Given the description of an element on the screen output the (x, y) to click on. 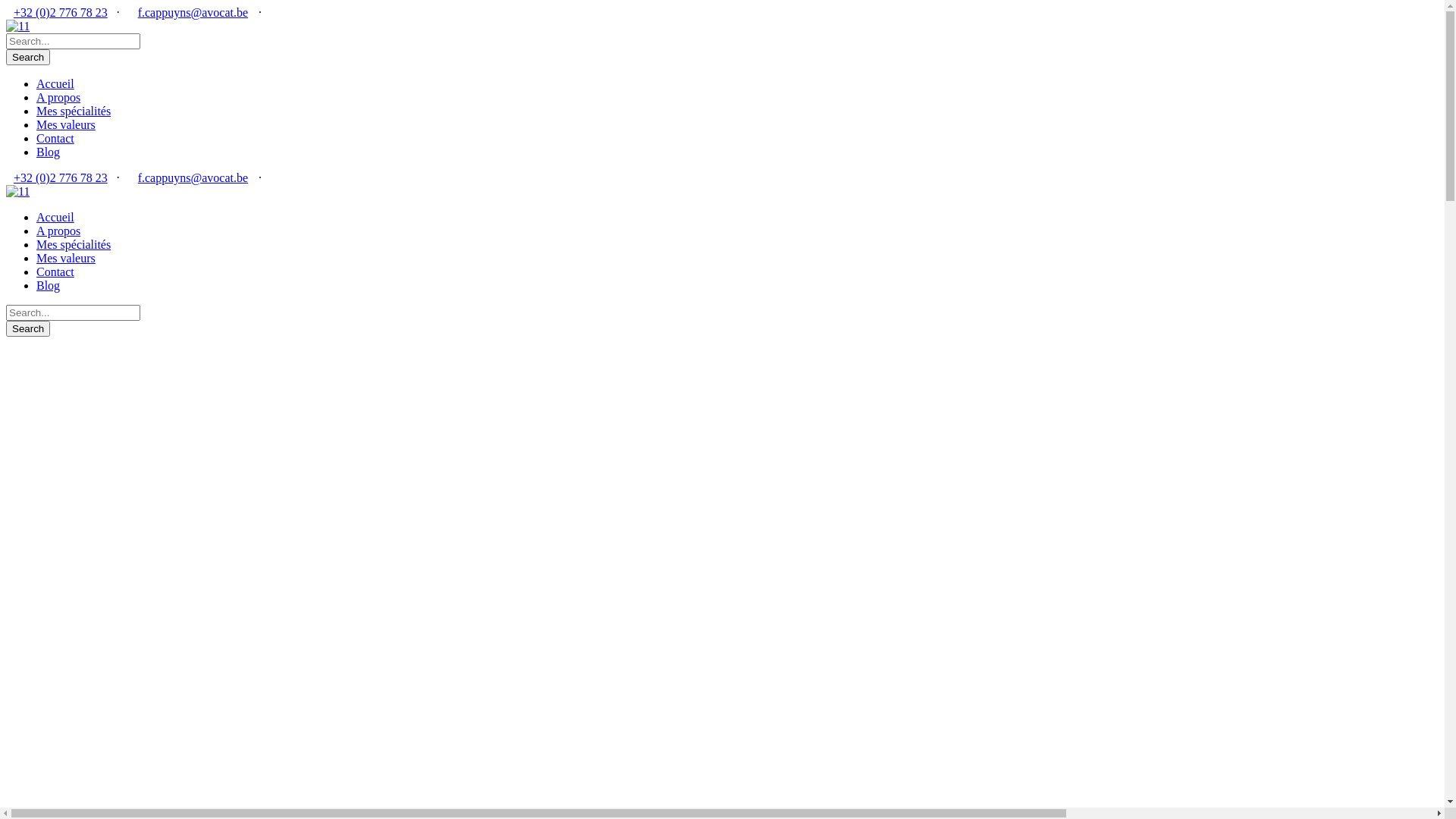
home_logo Element type: hover (17, 26)
f.cappuyns@avocat.be Element type: text (192, 177)
Accueil Element type: text (55, 83)
Contact Element type: text (55, 271)
+32 (0)2 776 78 23 Element type: text (60, 177)
Mes valeurs Element type: text (65, 124)
Blog Element type: text (47, 151)
A propos Element type: text (58, 97)
Search Element type: text (28, 57)
A propos Element type: text (58, 230)
+32 (0)2 776 78 23 Element type: text (60, 12)
Blog Element type: text (47, 285)
Contact Element type: text (55, 137)
home_logo Element type: hover (17, 191)
Accueil Element type: text (55, 216)
Search Element type: text (28, 328)
Mes valeurs Element type: text (65, 257)
f.cappuyns@avocat.be Element type: text (192, 12)
